Given the description of an element on the screen output the (x, y) to click on. 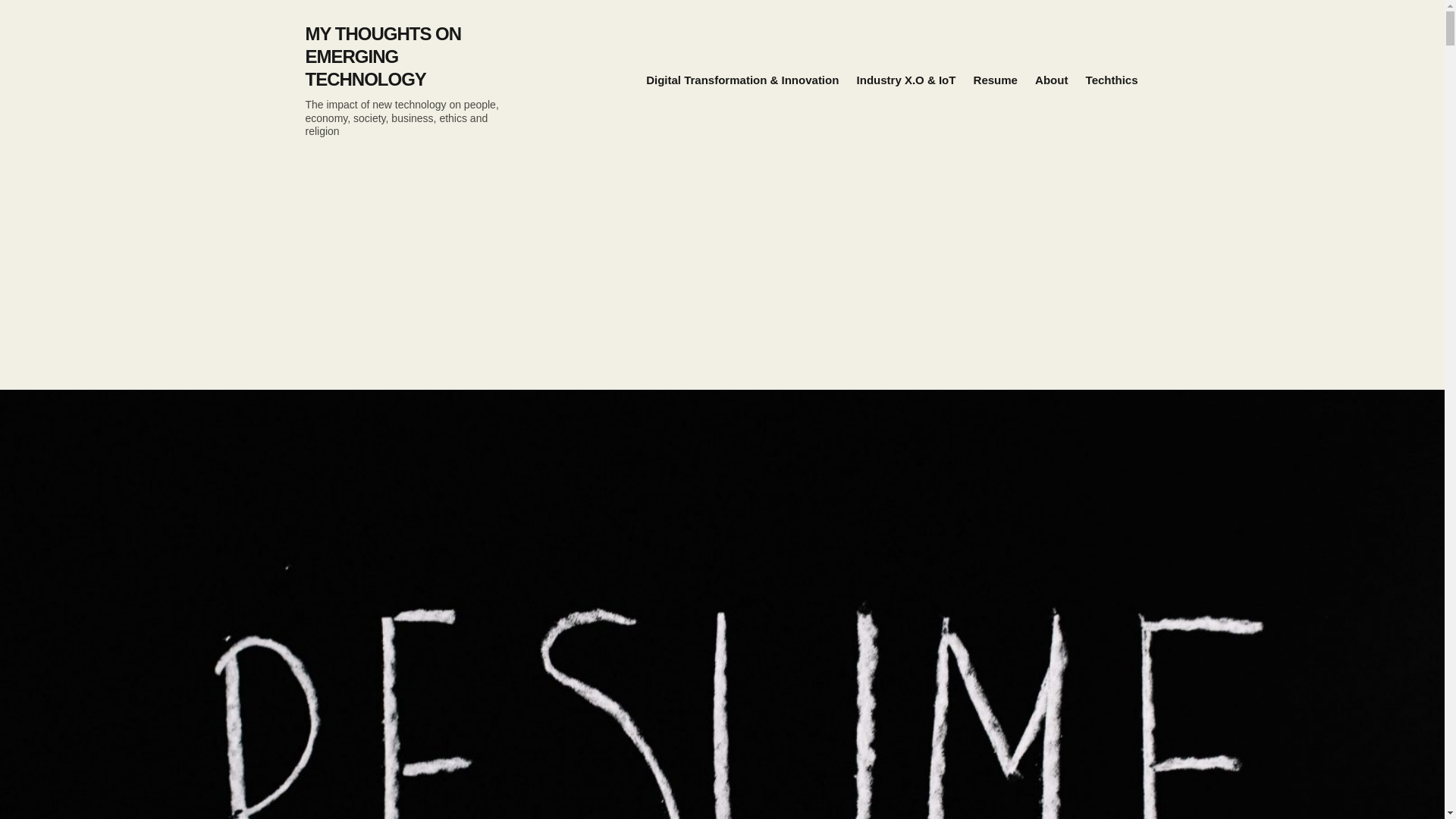
Techthics (1112, 80)
Resume (995, 80)
About (1050, 80)
MY THOUGHTS ON EMERGING TECHNOLOGY (382, 56)
